Given the description of an element on the screen output the (x, y) to click on. 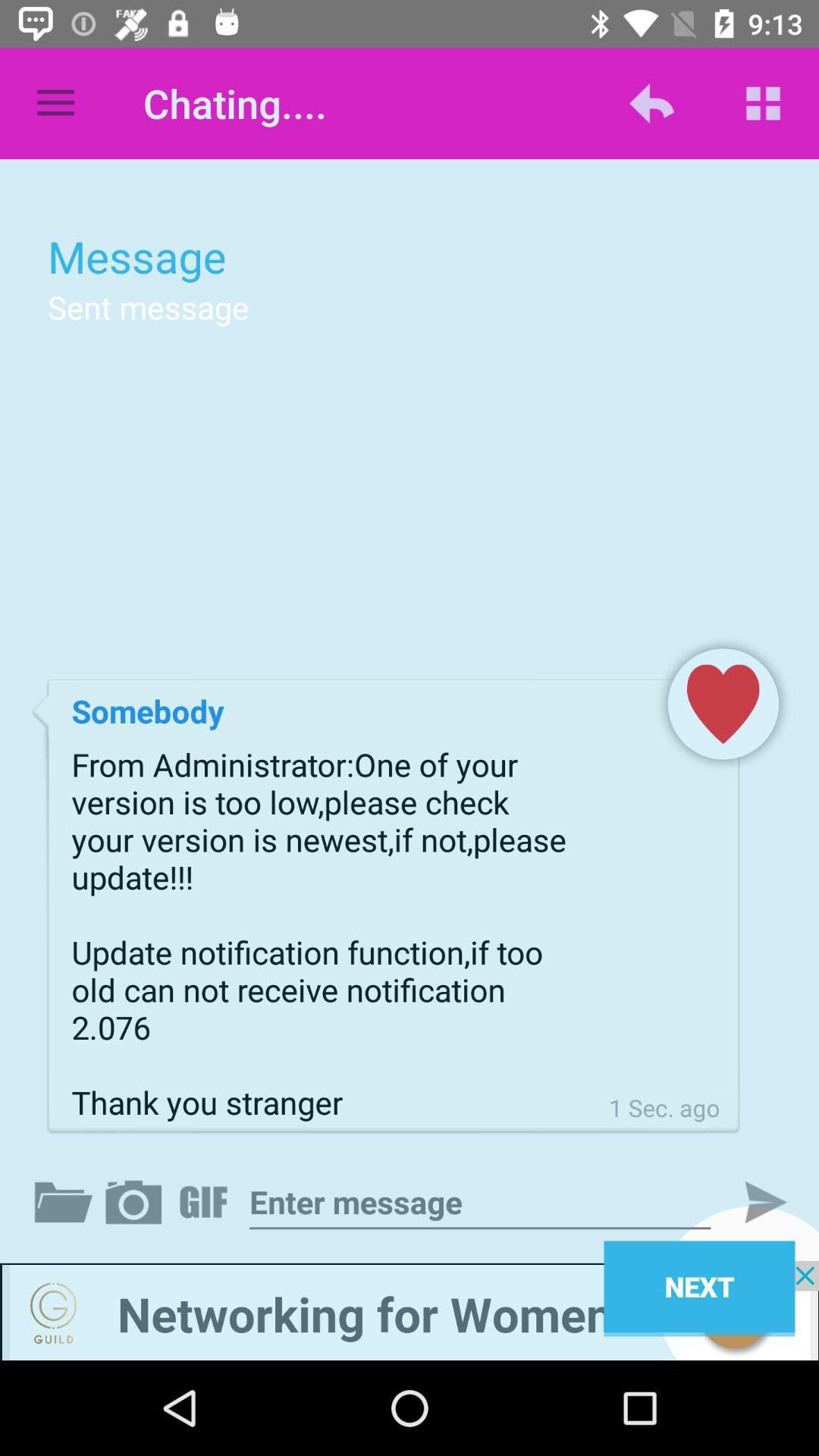
advertisements (409, 1310)
